Given the description of an element on the screen output the (x, y) to click on. 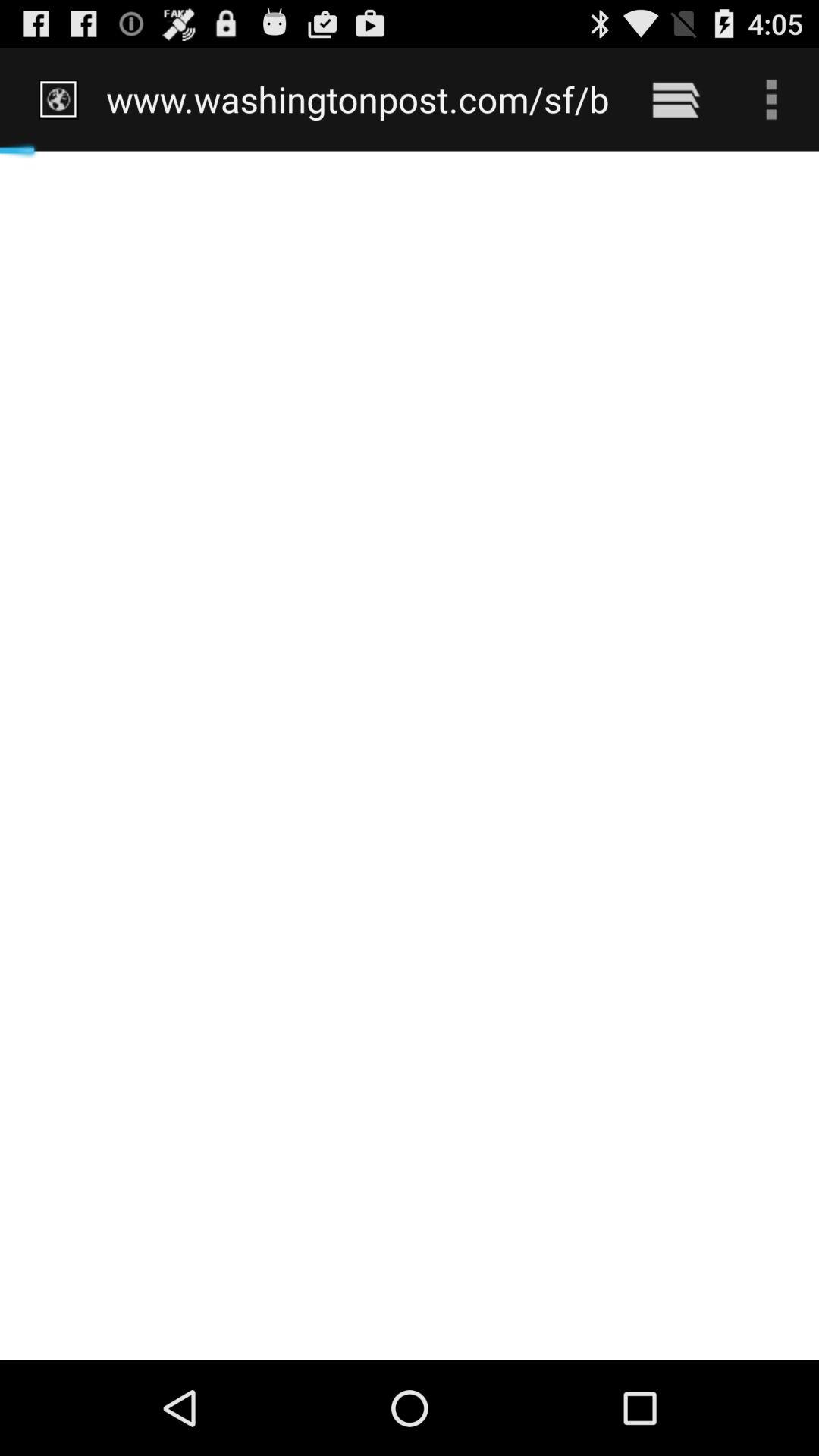
turn off icon below www washingtonpost com item (409, 755)
